Given the description of an element on the screen output the (x, y) to click on. 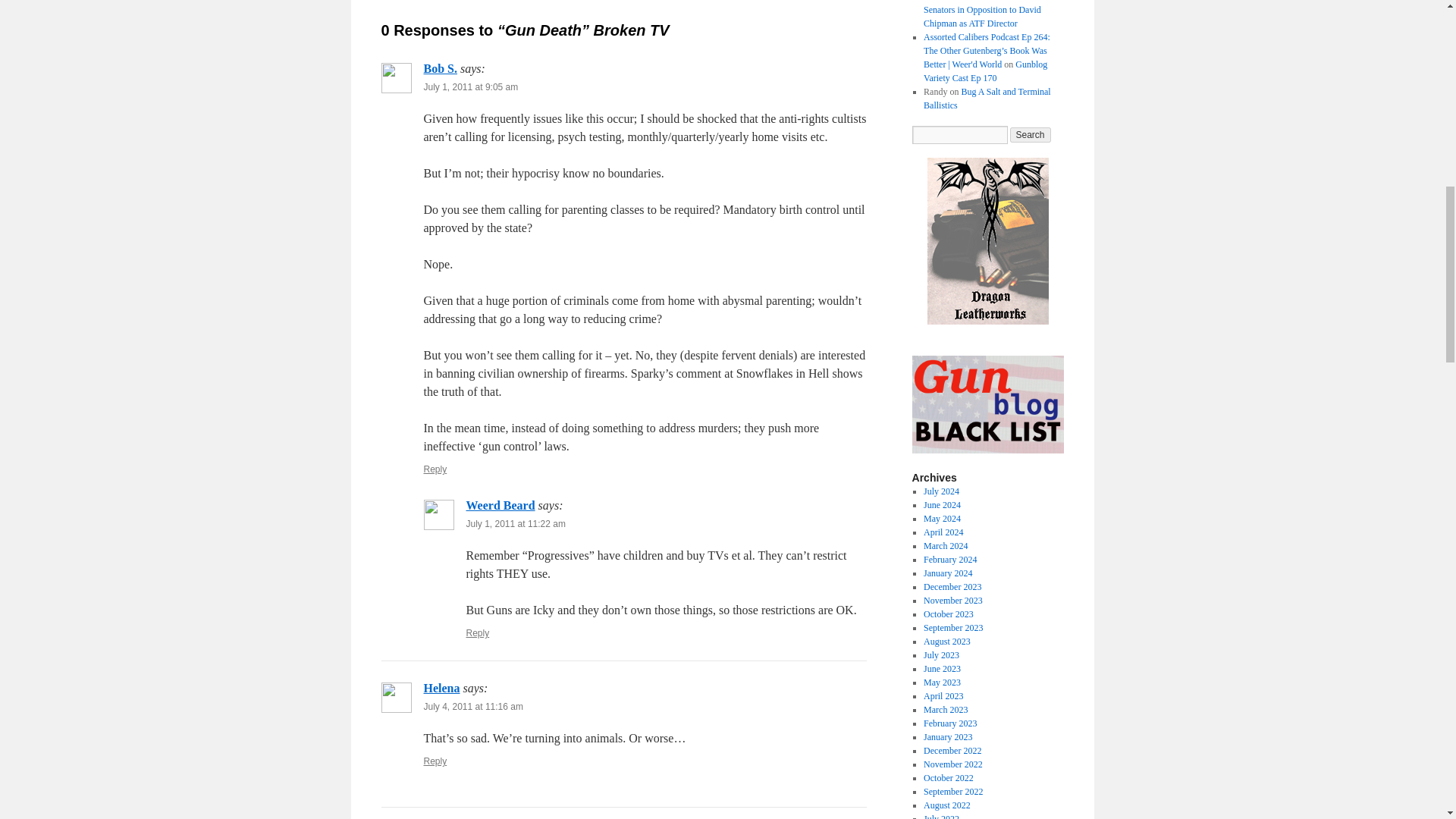
July 4, 2011 at 11:16 am (472, 706)
Reply (477, 633)
Reply (434, 469)
July 1, 2011 at 9:05 am (470, 86)
Reply (434, 760)
Helena (441, 687)
Weerd Beard (499, 504)
Bob S. (440, 68)
Search (1030, 134)
July 1, 2011 at 11:22 am (514, 523)
